Given the description of an element on the screen output the (x, y) to click on. 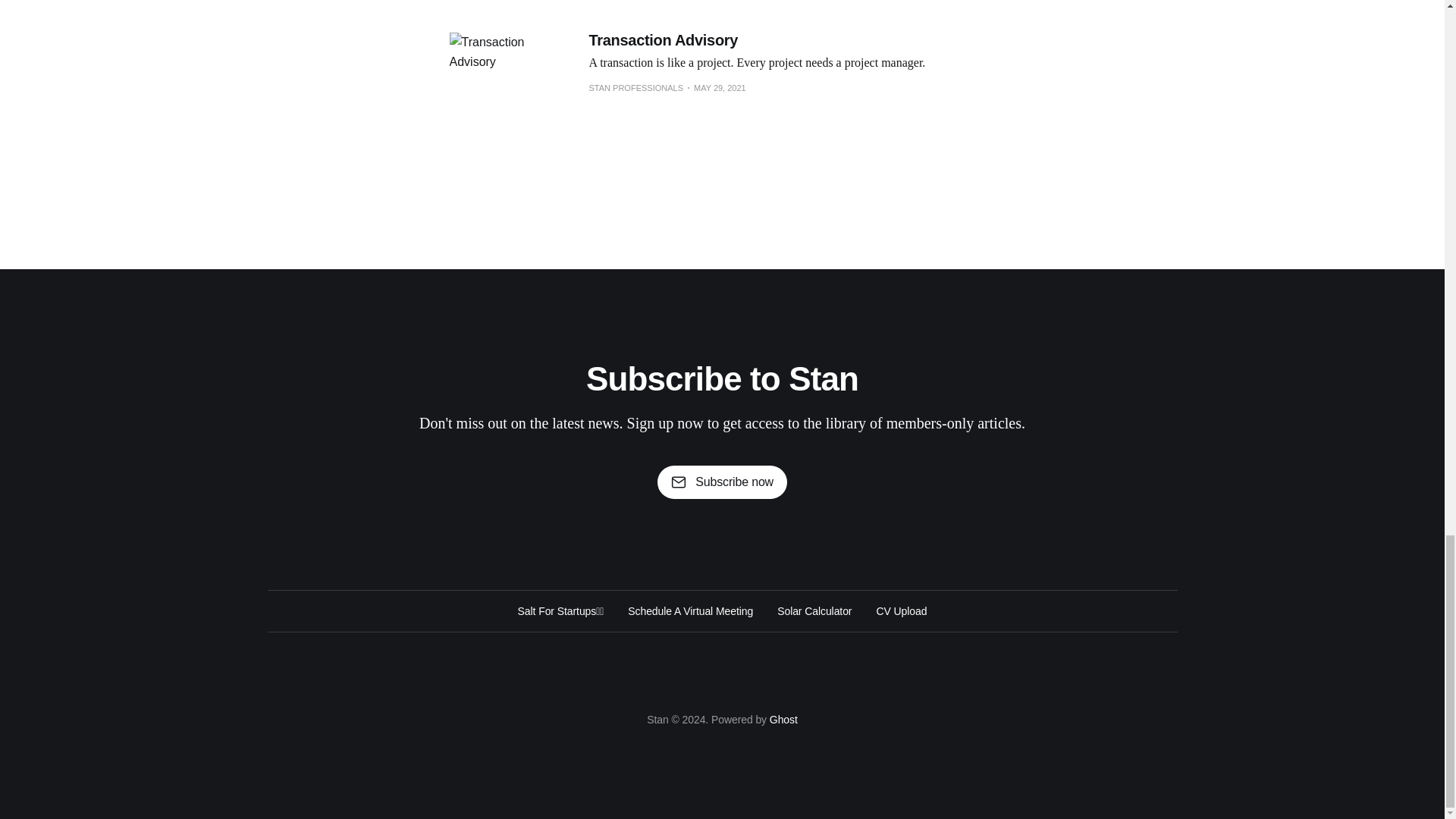
Subscribe now (722, 482)
Schedule A Virtual Meeting (689, 610)
CV Upload (901, 610)
Ghost (783, 719)
Solar Calculator (814, 610)
